Given the description of an element on the screen output the (x, y) to click on. 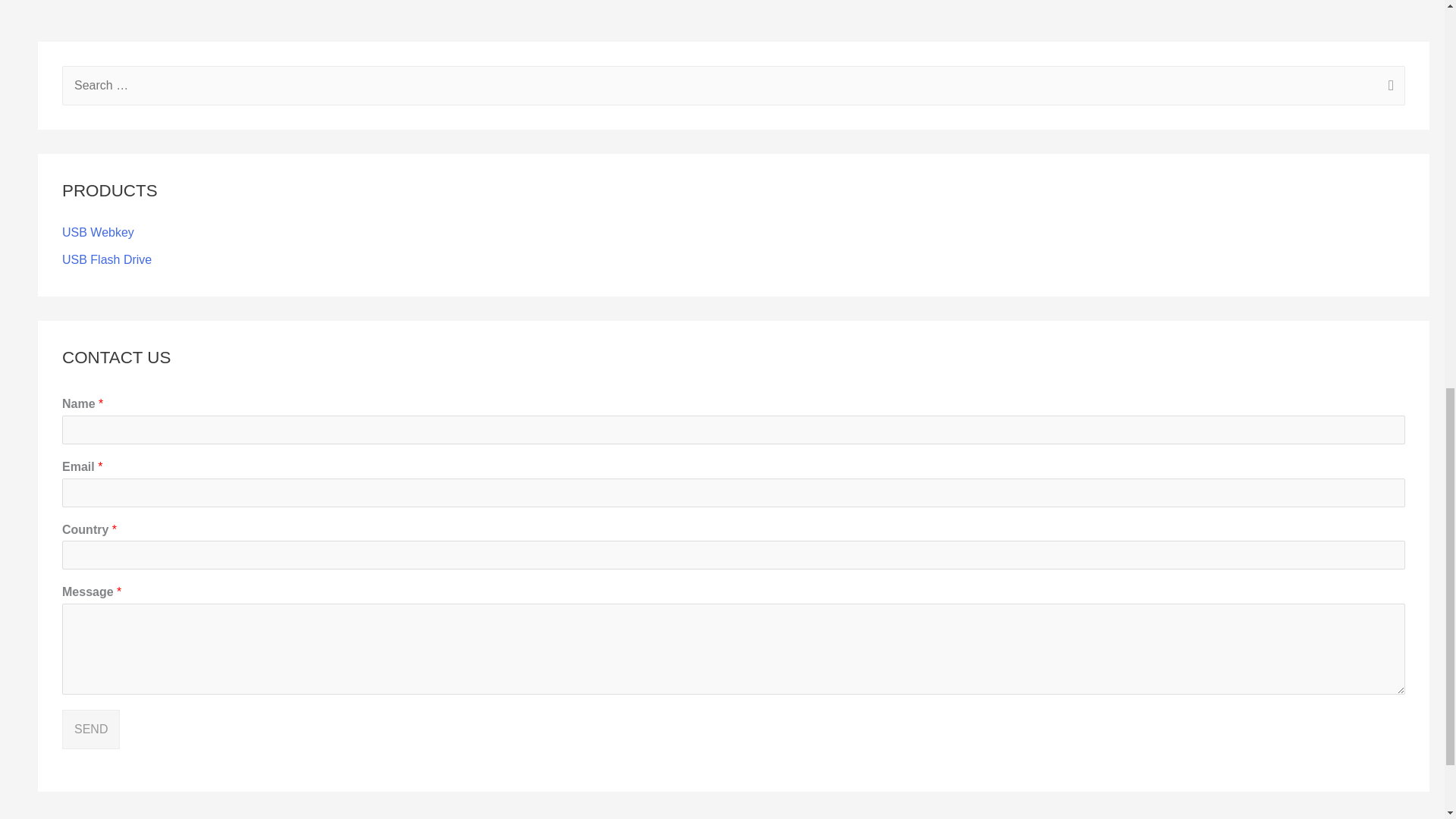
SEND (90, 729)
USB Flash Drive (106, 259)
USB Webkey (97, 232)
